Given the description of an element on the screen output the (x, y) to click on. 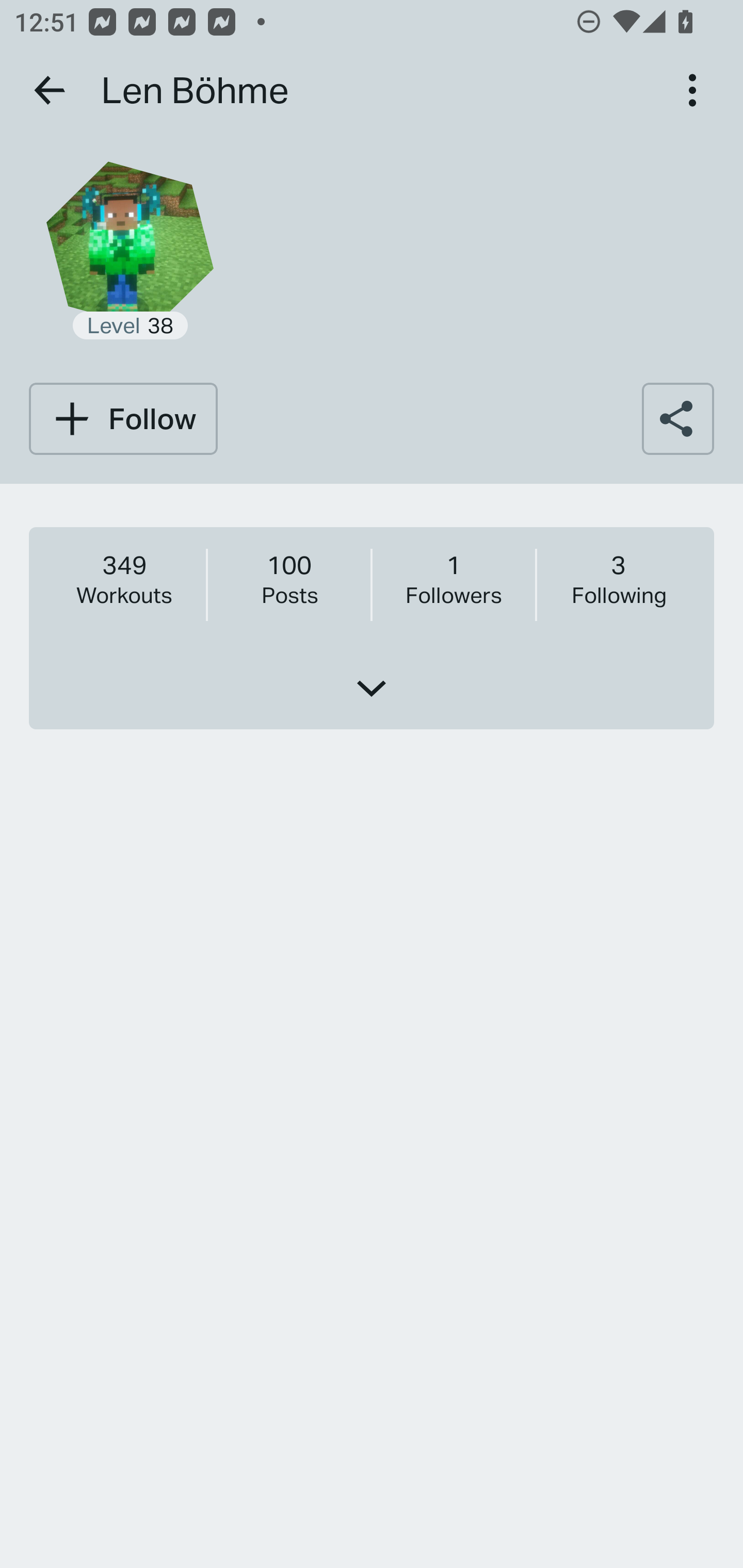
Go back (50, 90)
Options (692, 90)
Follow (123, 418)
349 Workouts (124, 579)
100 Posts (289, 579)
1 Followers (453, 579)
3 Following (618, 579)
